Given the description of an element on the screen output the (x, y) to click on. 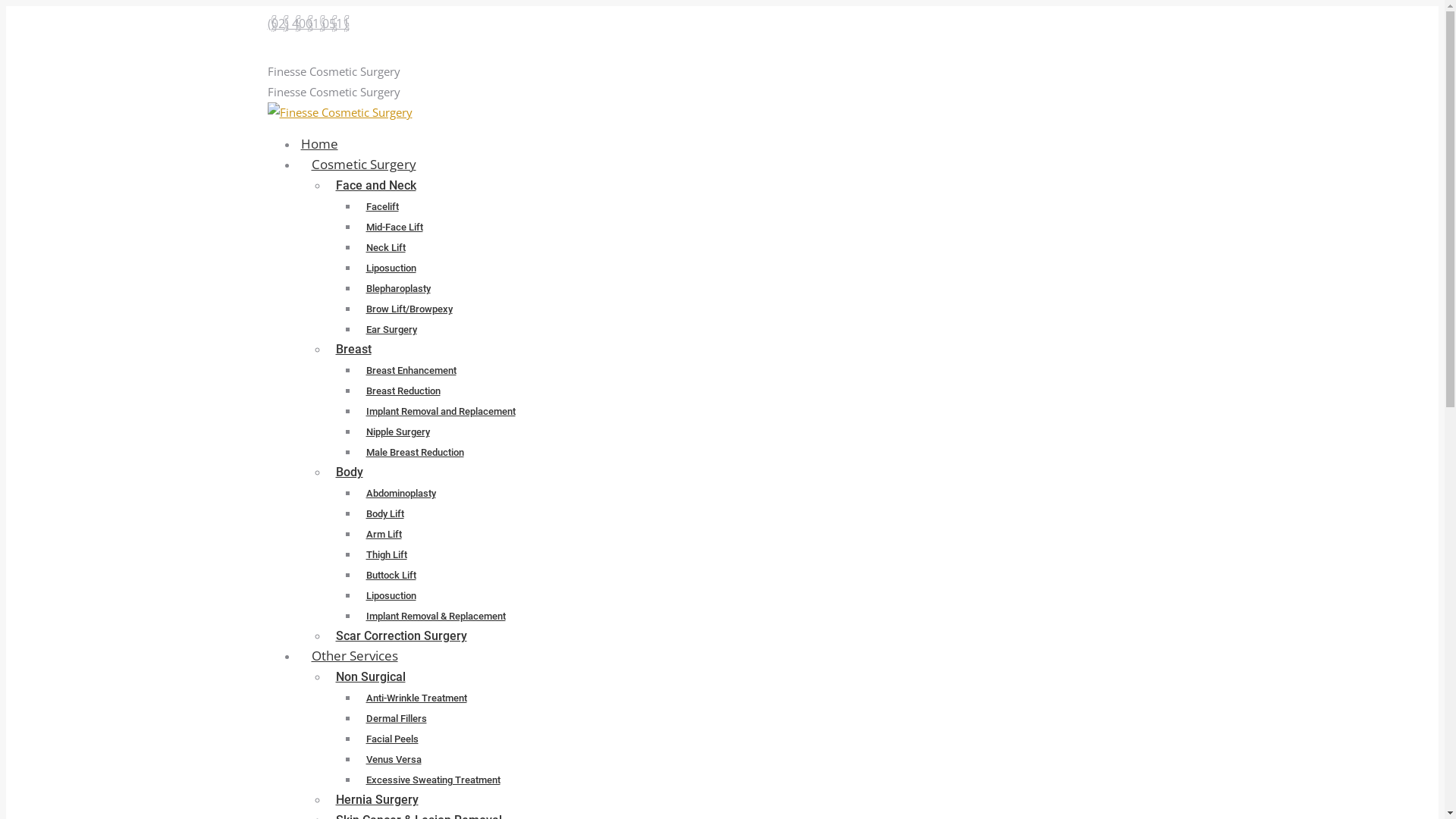
Neck Lift Element type: text (384, 246)
Other Services Element type: text (353, 655)
Home Element type: text (318, 143)
Body Element type: text (348, 471)
Facelift Element type: text (381, 205)
Blepharoplasty Element type: text (397, 287)
Venus Versa Element type: text (392, 758)
Excessive Sweating Treatment Element type: text (432, 778)
Cosmetic Surgery Element type: text (362, 164)
Mid-Face Lift Element type: text (393, 225)
Liposuction Element type: text (390, 594)
Face and Neck Element type: text (375, 184)
Thigh Lift Element type: text (385, 553)
Implant Removal & Replacement Element type: text (434, 614)
Anti-Wrinkle Treatment Element type: text (415, 696)
Arm Lift Element type: text (382, 532)
Male Breast Reduction Element type: text (413, 451)
Non Surgical Element type: text (369, 676)
Facial Peels Element type: text (391, 737)
Scar Correction Surgery Element type: text (400, 635)
Breast Reduction Element type: text (402, 389)
Brow Lift/Browpexy Element type: text (408, 307)
Hernia Surgery Element type: text (376, 799)
Nipple Surgery Element type: text (396, 430)
Buttock Lift Element type: text (390, 573)
Body Lift Element type: text (384, 512)
Ear Surgery Element type: text (390, 328)
Implant Removal and Replacement Element type: text (439, 410)
Breast Element type: text (352, 348)
Breast Enhancement Element type: text (410, 369)
(02) 4001 0511 Element type: text (307, 23)
Skip to content Element type: text (5, 5)
Liposuction Element type: text (390, 266)
Abdominoplasty Element type: text (399, 491)
Dermal Fillers Element type: text (395, 717)
